Given the description of an element on the screen output the (x, y) to click on. 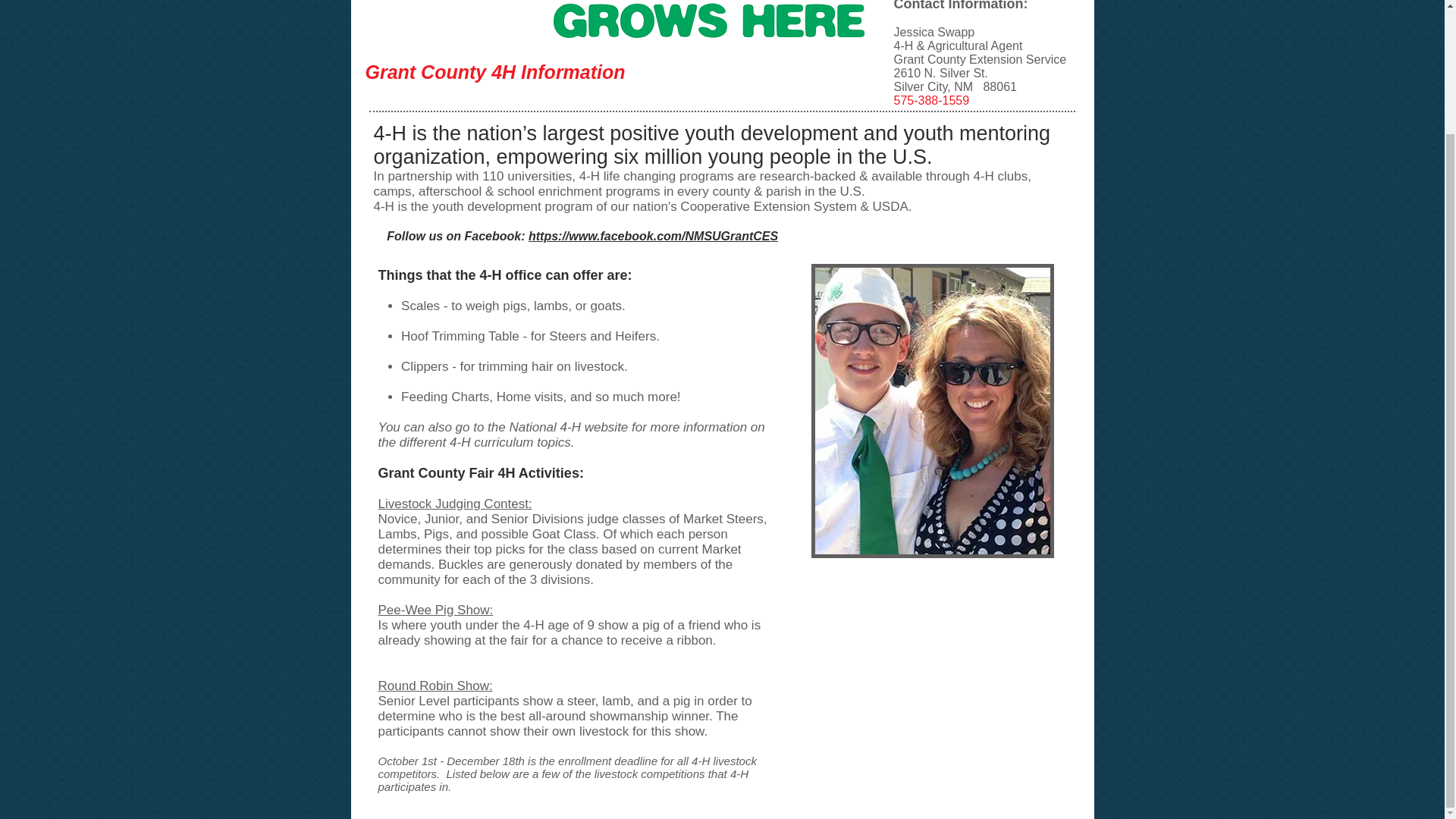
4-H curriculum topics (509, 441)
